Given the description of an element on the screen output the (x, y) to click on. 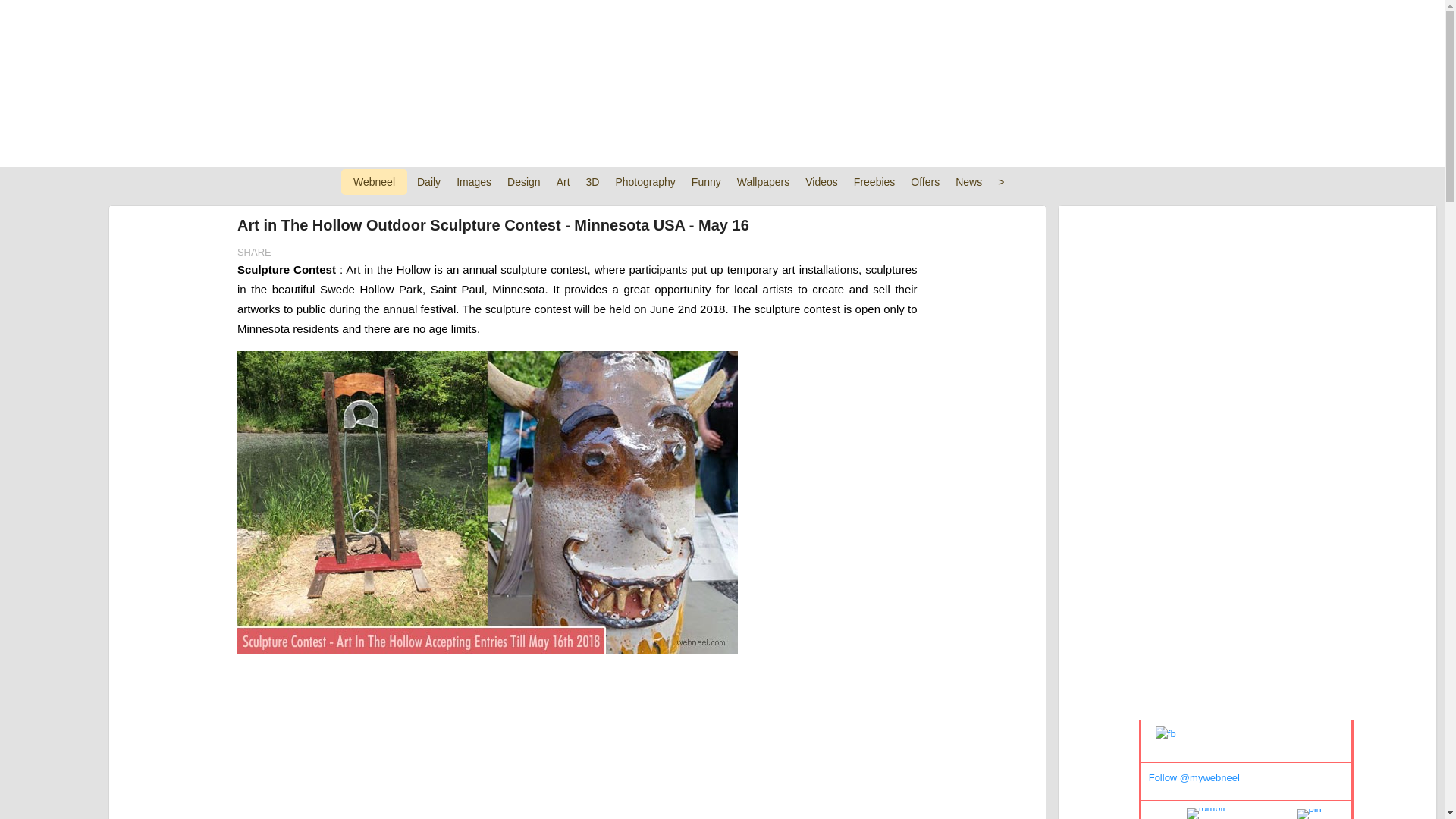
Wallpapers (763, 181)
Funny (705, 181)
Freebies (874, 181)
Daily (428, 181)
News (968, 181)
Images (473, 181)
Offers (924, 181)
Advertisement (722, 82)
Design (523, 181)
Webneel (373, 181)
